Given the description of an element on the screen output the (x, y) to click on. 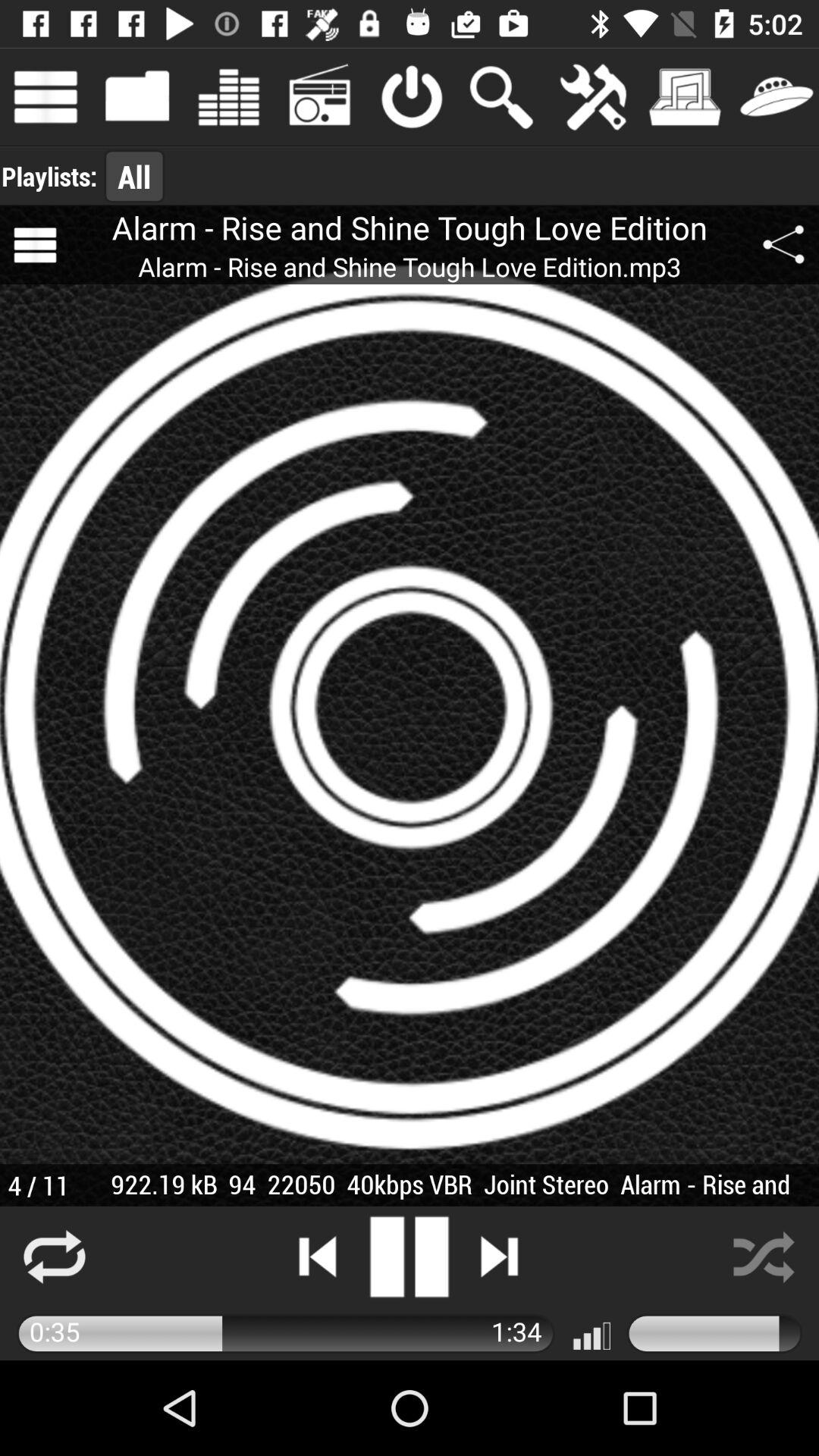
flip to the   all   icon (134, 176)
